Given the description of an element on the screen output the (x, y) to click on. 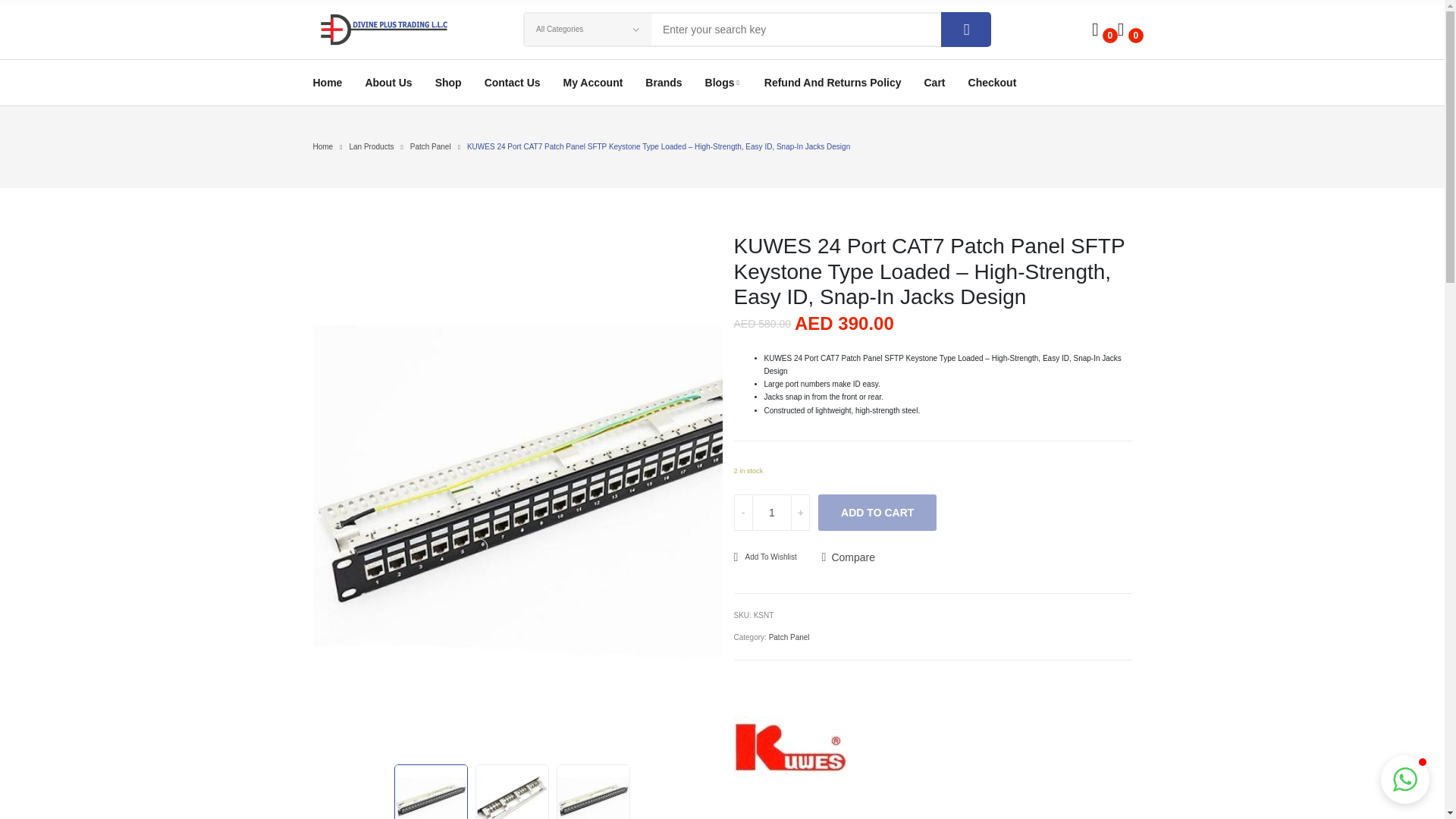
My Account (593, 82)
Home (323, 146)
KUWES (790, 748)
ADD TO CART (877, 512)
Contact Us (512, 82)
Checkout (992, 82)
Refund And Returns Policy (832, 82)
Add To Wishlist (764, 556)
About Us (388, 82)
Lan Products (371, 146)
1 (771, 512)
Patch Panel (430, 146)
Compare (848, 557)
Qty (771, 512)
